Given the description of an element on the screen output the (x, y) to click on. 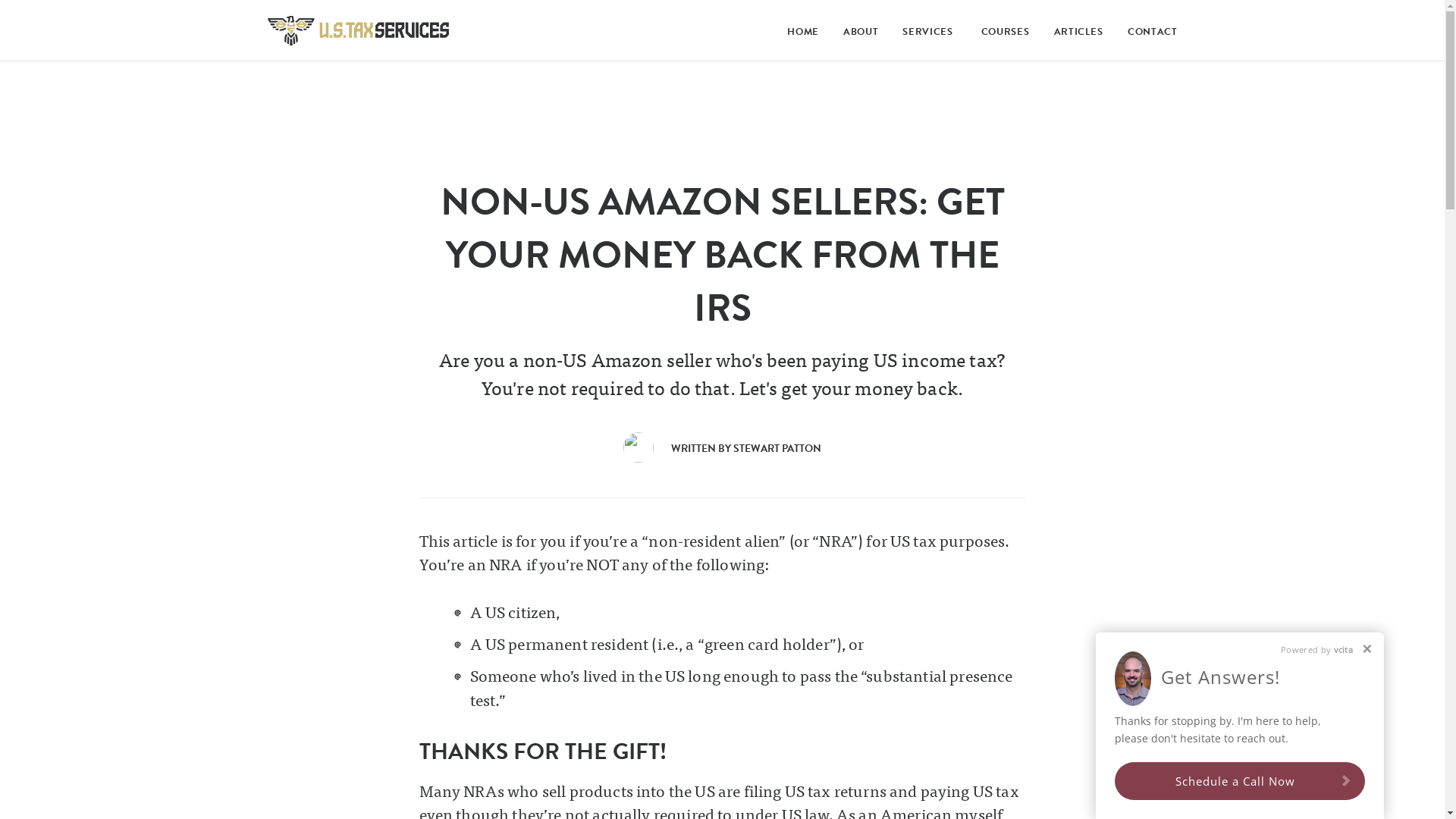
CONTACT Element type: text (1144, 32)
Powered by vcita Element type: text (1316, 649)
ARTICLES Element type: text (1074, 32)
SERVICES Element type: text (925, 31)
Schedule a Call Now Element type: text (1239, 781)
HOME Element type: text (798, 32)
ABOUT Element type: text (856, 32)
COURSES Element type: text (1001, 32)
